Given the description of an element on the screen output the (x, y) to click on. 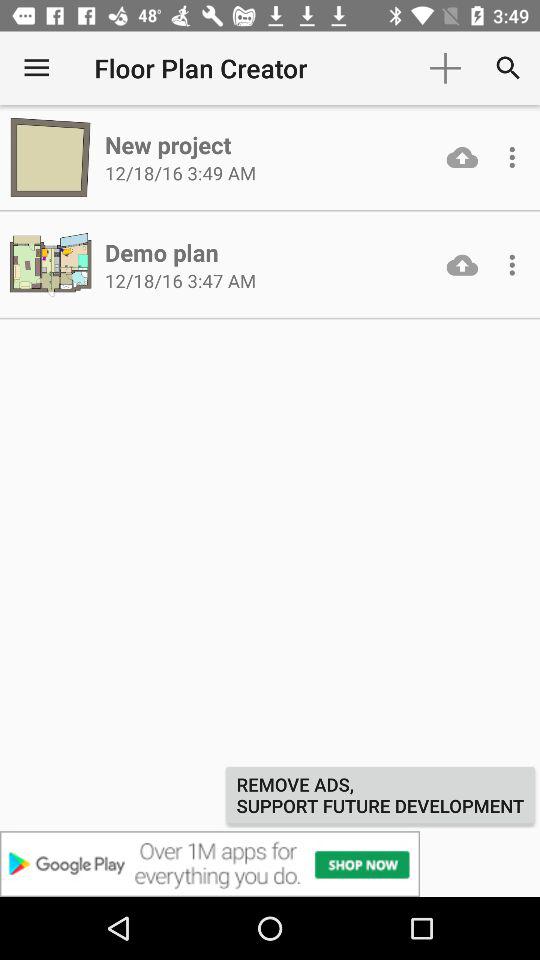
autoplay option (512, 265)
